Given the description of an element on the screen output the (x, y) to click on. 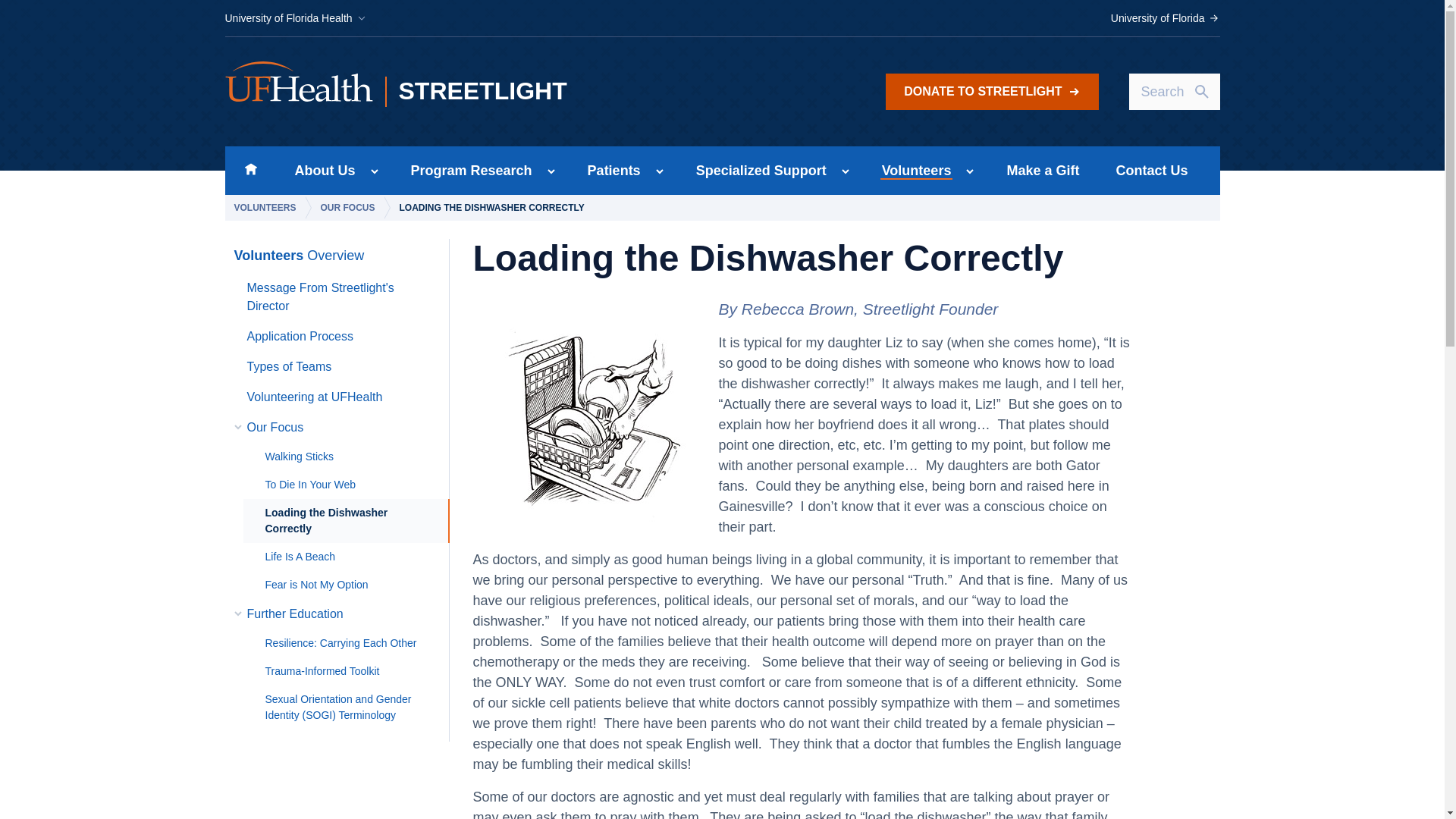
STREETLIGHT (515, 91)
University of Florida (1165, 18)
Home (250, 170)
About Us (320, 170)
DONATE TO STREETLIGHT (991, 91)
University of Florida Health (295, 18)
Specialized Support (756, 170)
